Given the description of an element on the screen output the (x, y) to click on. 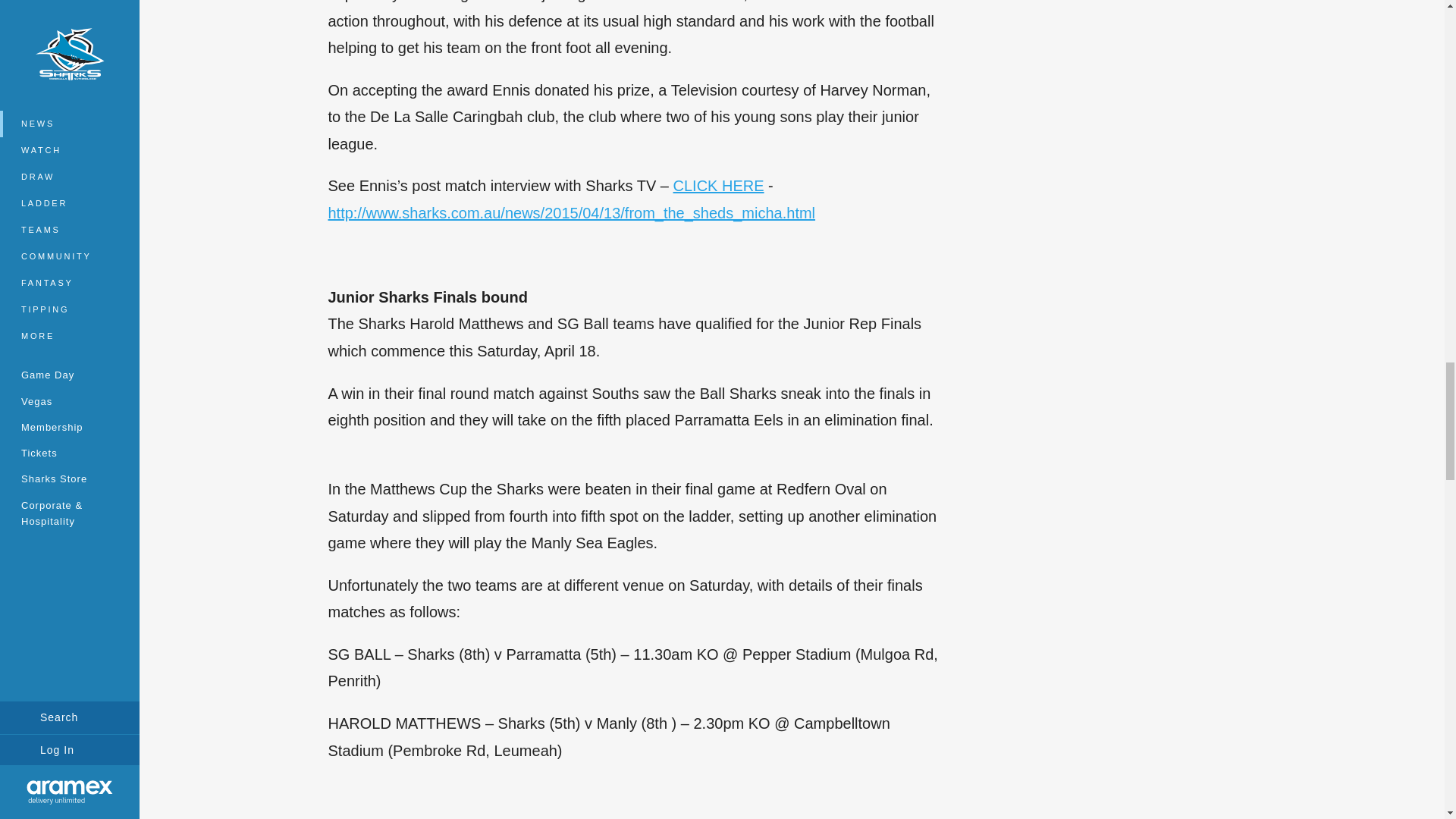
CLICK HERE (718, 185)
